Given the description of an element on the screen output the (x, y) to click on. 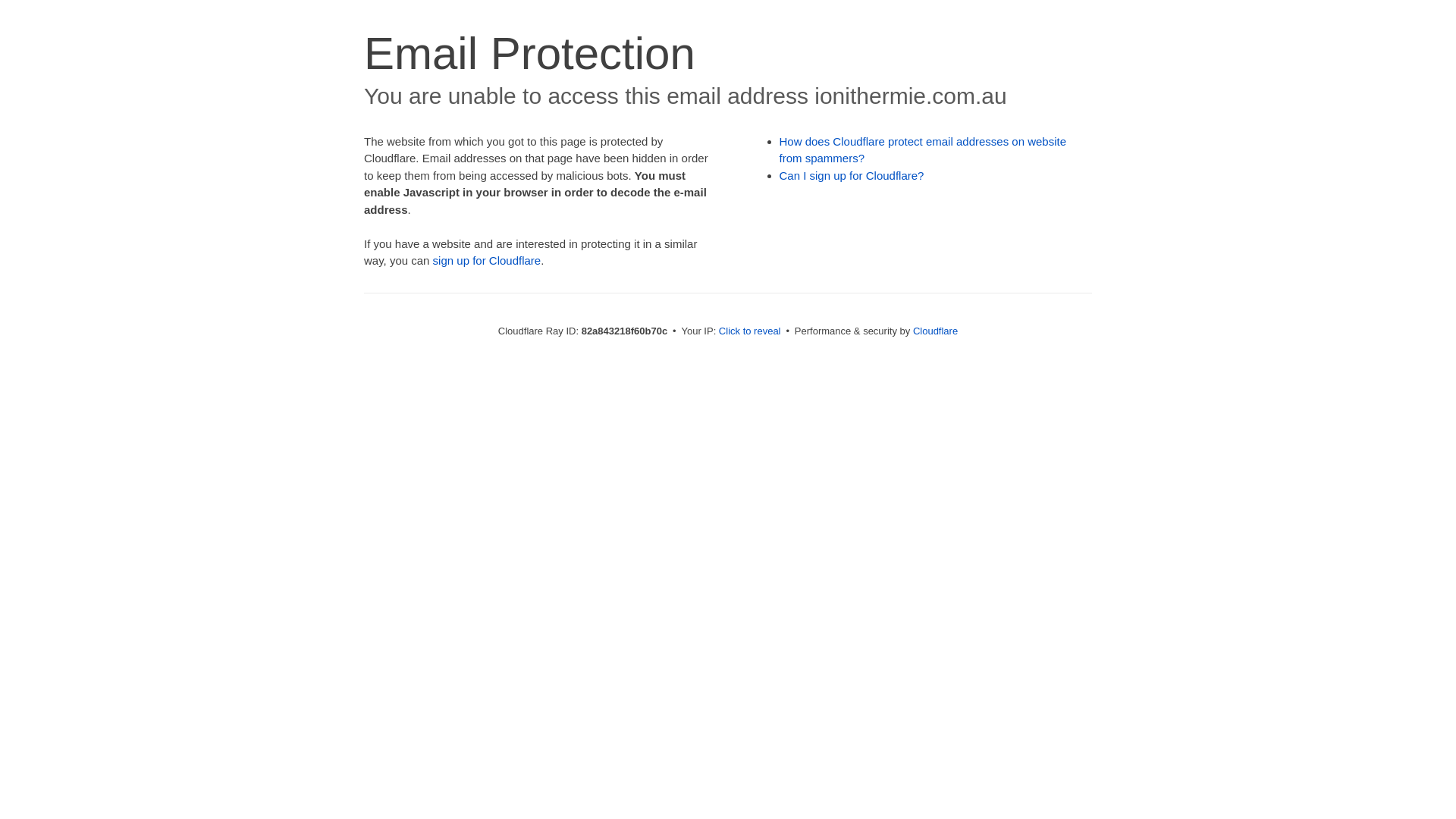
Can I sign up for Cloudflare? Element type: text (851, 175)
Cloudflare Element type: text (935, 330)
sign up for Cloudflare Element type: text (487, 260)
Click to reveal Element type: text (749, 330)
